Given the description of an element on the screen output the (x, y) to click on. 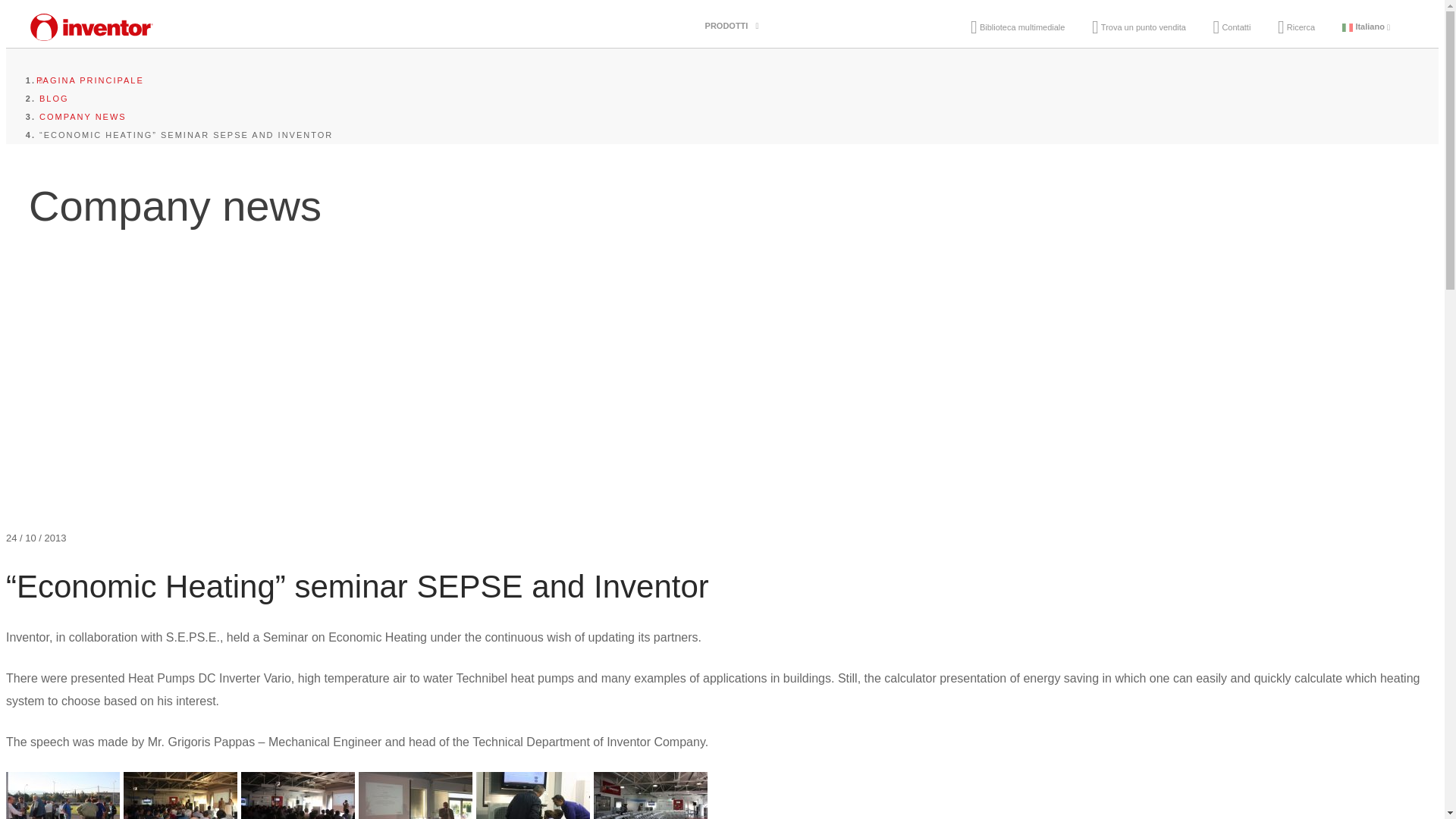
Contatti (1231, 27)
Trova un punto vendita (1139, 27)
Pagina principale (91, 80)
BLOG (53, 98)
PAGINA PRINCIPALE (91, 80)
Trova un punto vendita (1139, 27)
Italiano (1366, 27)
Biblioteca multimediale (1017, 27)
COMPANY NEWS (82, 116)
PRODOTTI (728, 26)
Home (91, 34)
Biblioteca multimediale (1017, 27)
Contatti (1231, 27)
Ricerca (1296, 27)
